Given the description of an element on the screen output the (x, y) to click on. 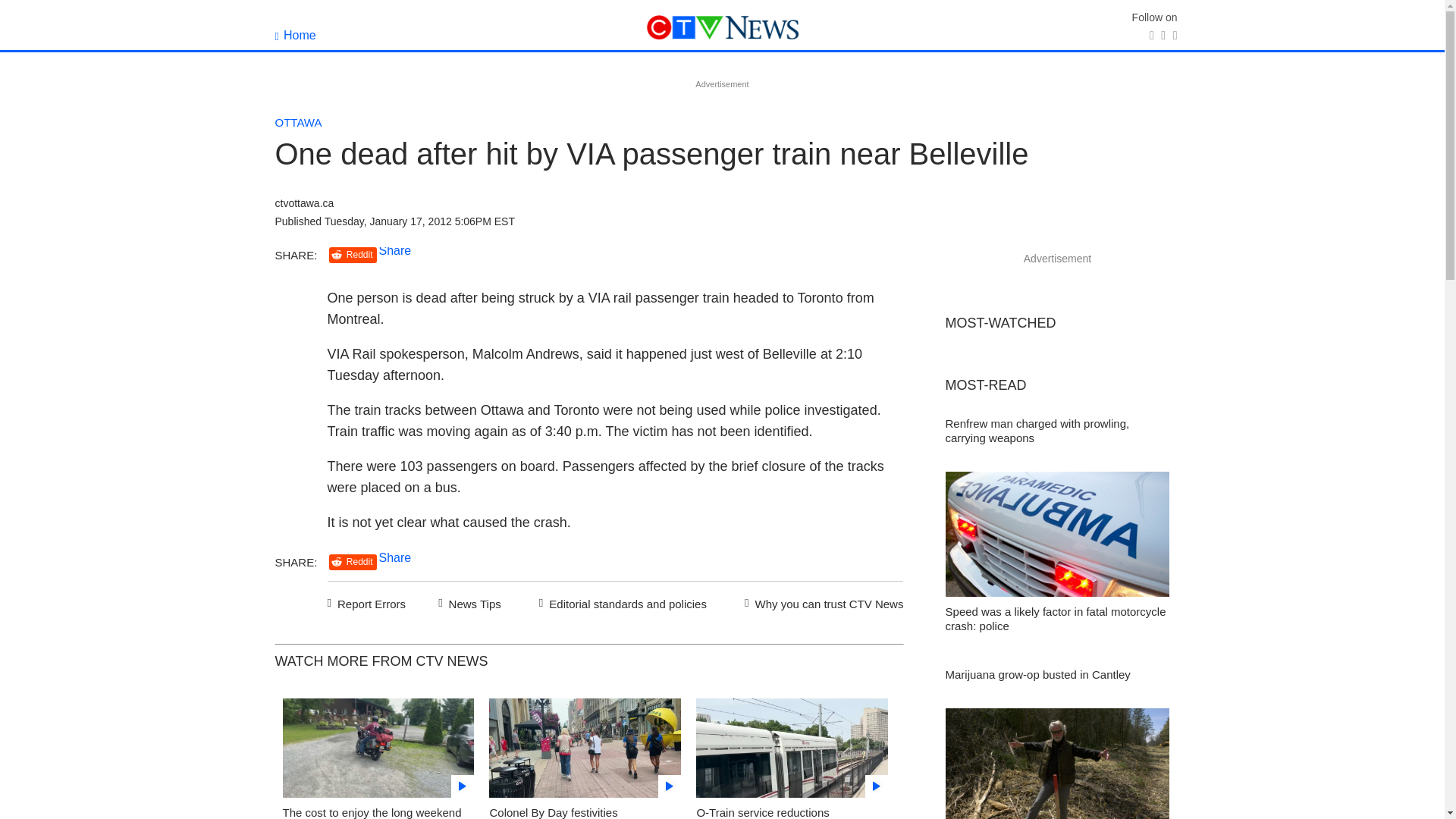
OTTAWA (298, 122)
Reddit (353, 254)
false (585, 747)
Share (395, 250)
Report Errors (366, 601)
false (791, 747)
The cost to enjoy the long weekend (371, 812)
Share (395, 557)
Editorial standards and policies (620, 601)
Home (295, 34)
Reddit (353, 562)
Colonel By Day festivities (553, 812)
false (378, 747)
Why you can trust CTV News (820, 601)
The cost to enjoy the long weekend (378, 751)
